Given the description of an element on the screen output the (x, y) to click on. 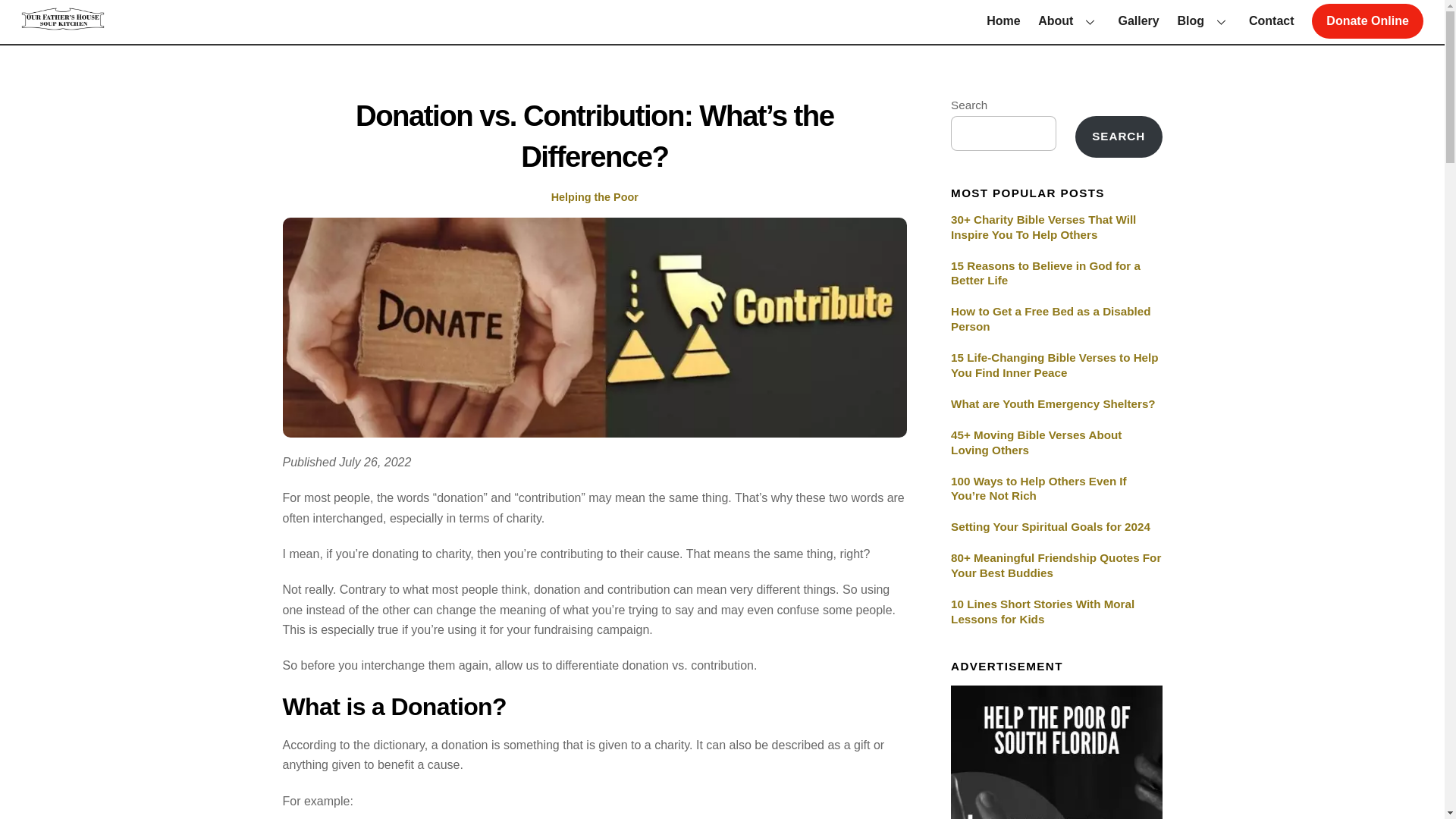
Blog (1204, 21)
Our Father's House Soup Kitchen (62, 23)
About (1069, 21)
Contact (1271, 21)
Helping the Poor (595, 196)
Gallery (1138, 21)
SEARCH (722, 21)
Donate Online (1118, 137)
How to Get a Free Bed as a Disabled Person (1367, 21)
Home (1055, 318)
15 Reasons to Believe in God for a Better Life (1003, 21)
